Given the description of an element on the screen output the (x, y) to click on. 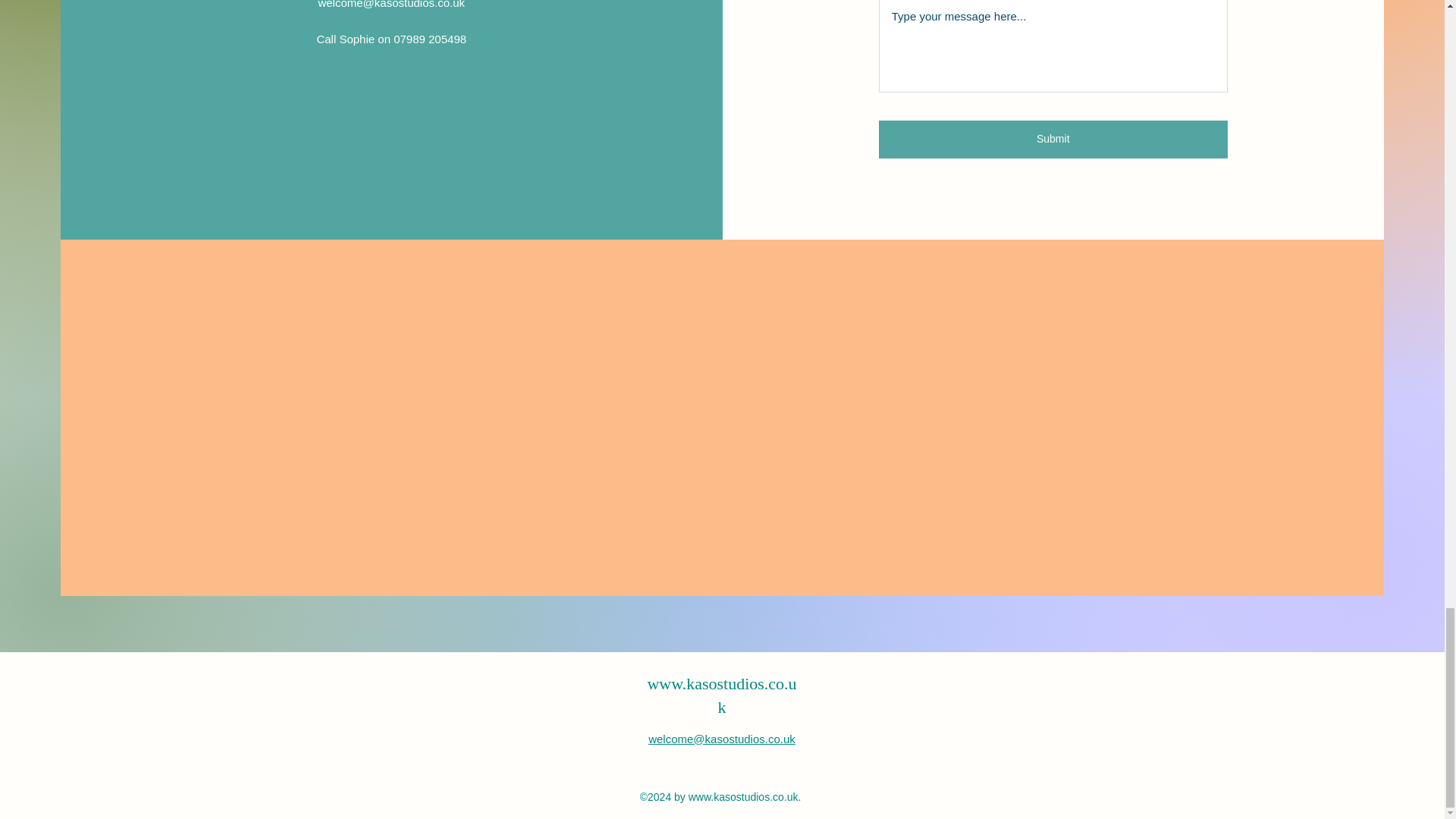
www.kasostudios.co.uk (742, 797)
Submit (1053, 139)
www.kasostudios.co.uk (721, 695)
